Given the description of an element on the screen output the (x, y) to click on. 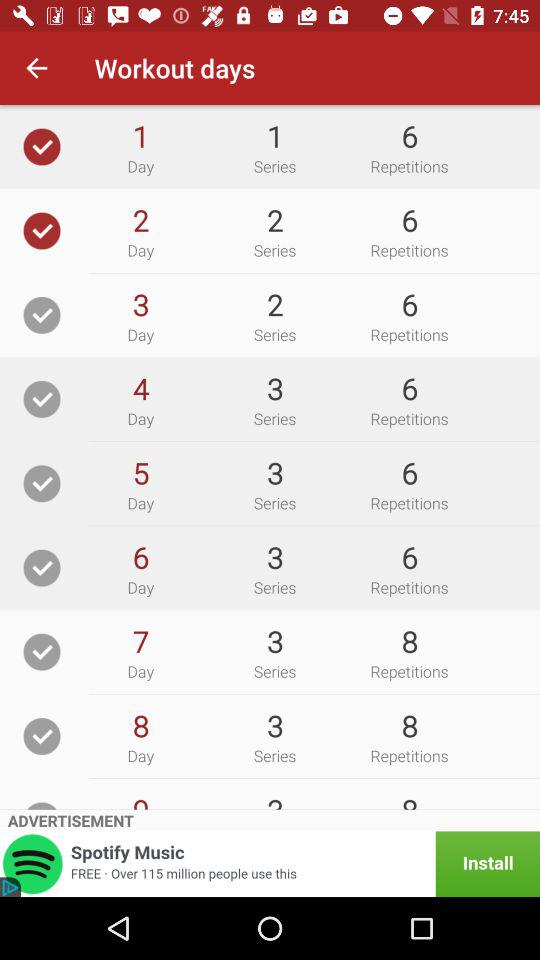
click item next to the 3 icon (140, 641)
